Given the description of an element on the screen output the (x, y) to click on. 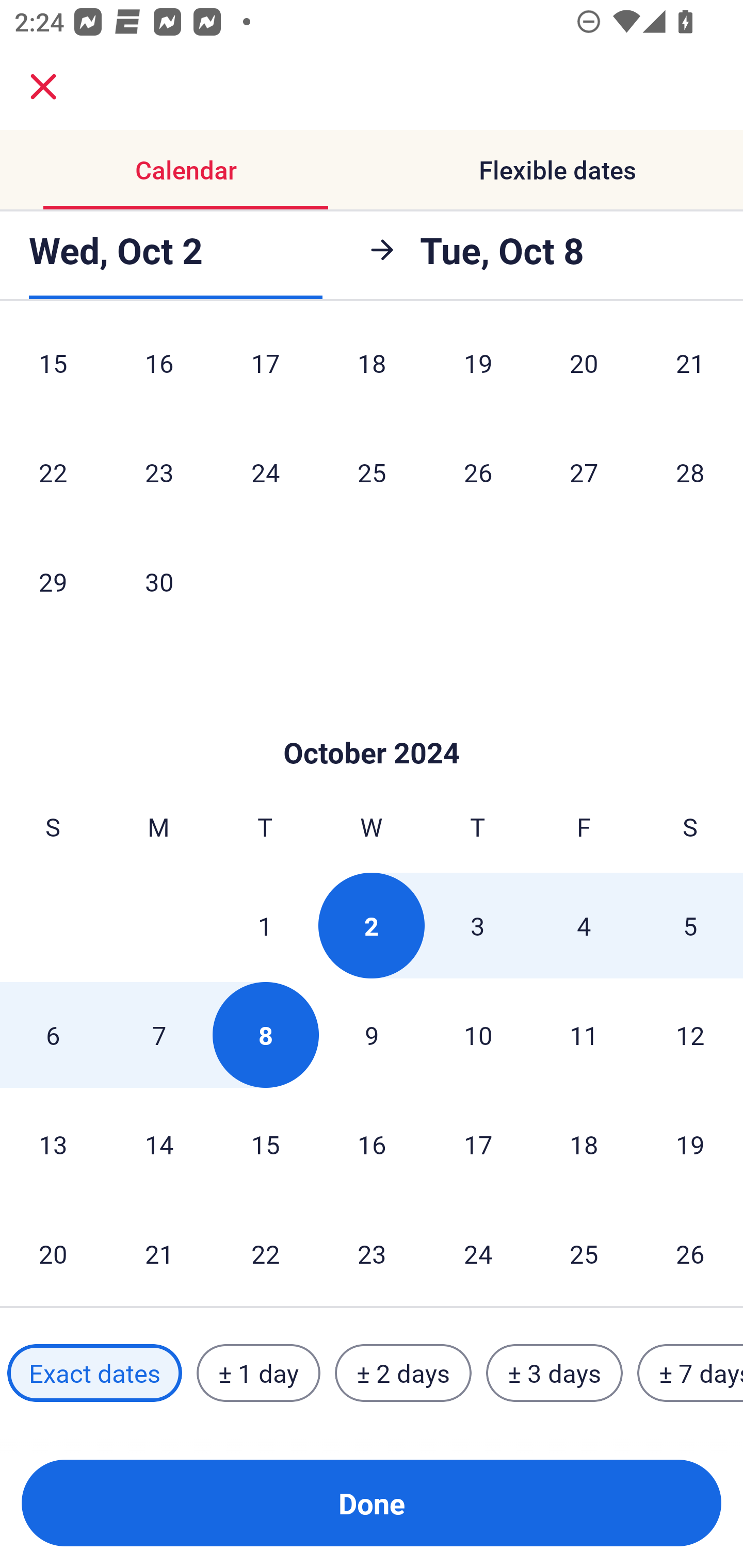
close. (43, 86)
Flexible dates (557, 170)
15 Sunday, September 15, 2024 (53, 372)
16 Monday, September 16, 2024 (159, 372)
17 Tuesday, September 17, 2024 (265, 372)
18 Wednesday, September 18, 2024 (371, 372)
19 Thursday, September 19, 2024 (477, 372)
20 Friday, September 20, 2024 (584, 372)
21 Saturday, September 21, 2024 (690, 372)
22 Sunday, September 22, 2024 (53, 471)
23 Monday, September 23, 2024 (159, 471)
24 Tuesday, September 24, 2024 (265, 471)
25 Wednesday, September 25, 2024 (371, 471)
26 Thursday, September 26, 2024 (477, 471)
27 Friday, September 27, 2024 (584, 471)
28 Saturday, September 28, 2024 (690, 471)
29 Sunday, September 29, 2024 (53, 581)
30 Monday, September 30, 2024 (159, 581)
Skip to Done (371, 721)
1 Tuesday, October 1, 2024 (264, 925)
9 Wednesday, October 9, 2024 (371, 1034)
10 Thursday, October 10, 2024 (477, 1034)
11 Friday, October 11, 2024 (584, 1034)
12 Saturday, October 12, 2024 (690, 1034)
13 Sunday, October 13, 2024 (53, 1143)
14 Monday, October 14, 2024 (159, 1143)
15 Tuesday, October 15, 2024 (265, 1143)
16 Wednesday, October 16, 2024 (371, 1143)
17 Thursday, October 17, 2024 (477, 1143)
18 Friday, October 18, 2024 (584, 1143)
19 Saturday, October 19, 2024 (690, 1143)
20 Sunday, October 20, 2024 (53, 1253)
21 Monday, October 21, 2024 (159, 1253)
22 Tuesday, October 22, 2024 (265, 1253)
23 Wednesday, October 23, 2024 (371, 1253)
24 Thursday, October 24, 2024 (477, 1253)
25 Friday, October 25, 2024 (584, 1253)
26 Saturday, October 26, 2024 (690, 1253)
Exact dates (94, 1372)
± 1 day (258, 1372)
± 2 days (403, 1372)
± 3 days (553, 1372)
± 7 days (690, 1372)
Done (371, 1502)
